Given the description of an element on the screen output the (x, y) to click on. 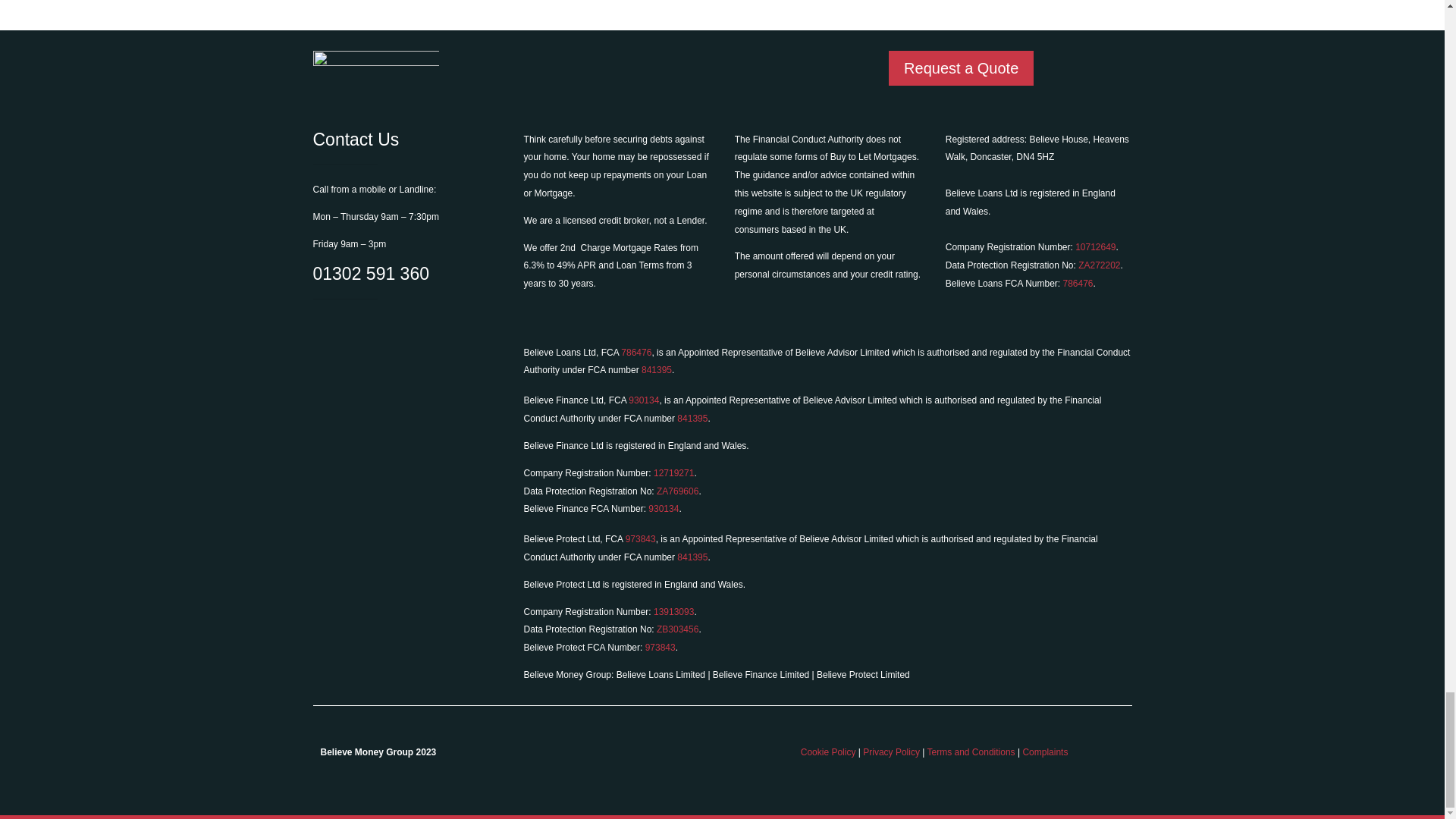
bmg (375, 69)
